Given the description of an element on the screen output the (x, y) to click on. 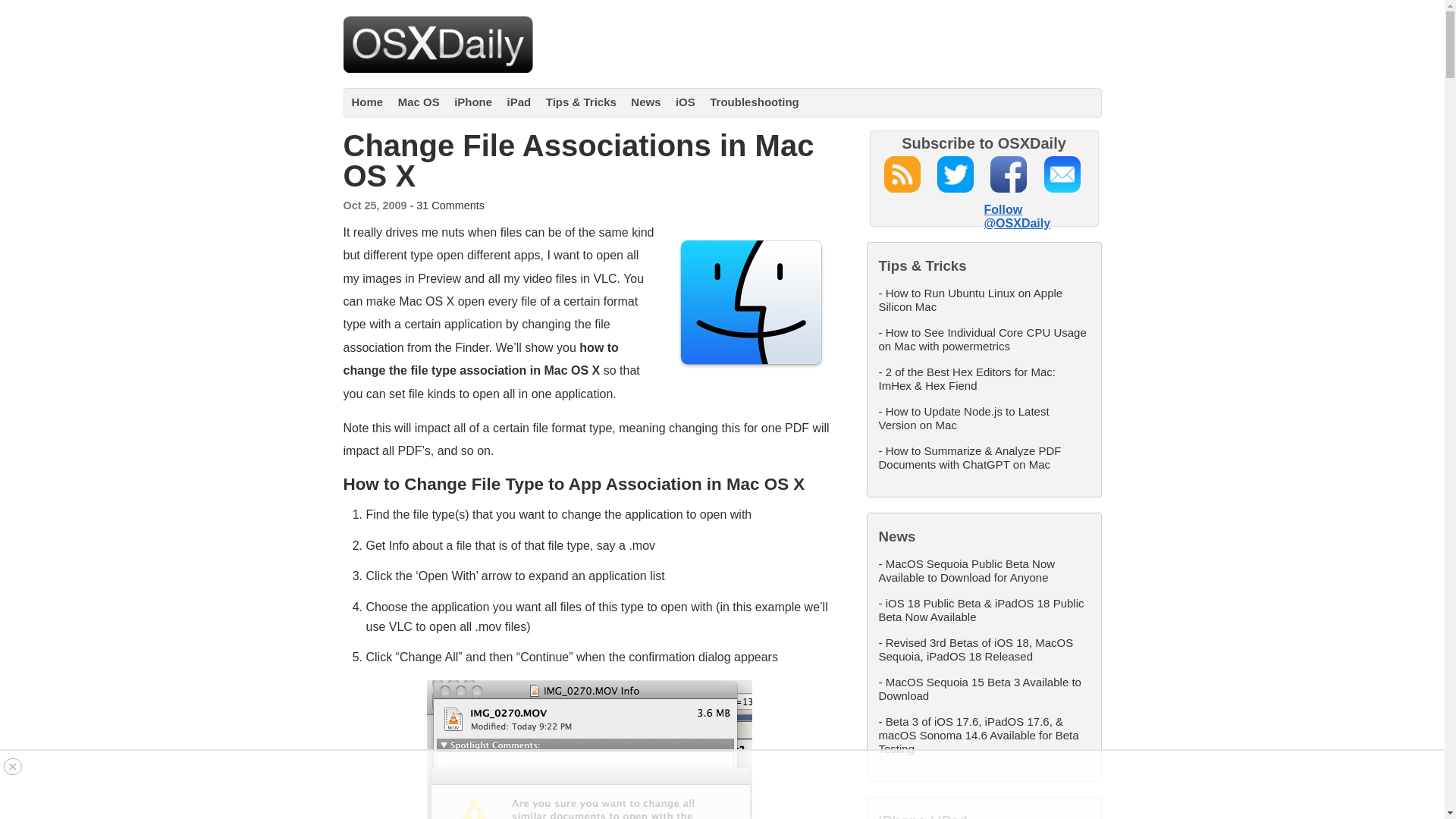
Home (368, 101)
Mac OS (418, 101)
iOS (685, 101)
Troubleshooting (754, 101)
News (645, 101)
change mac file association (589, 749)
31 Comments (450, 205)
iPhone (473, 101)
iPad (518, 101)
